Given the description of an element on the screen output the (x, y) to click on. 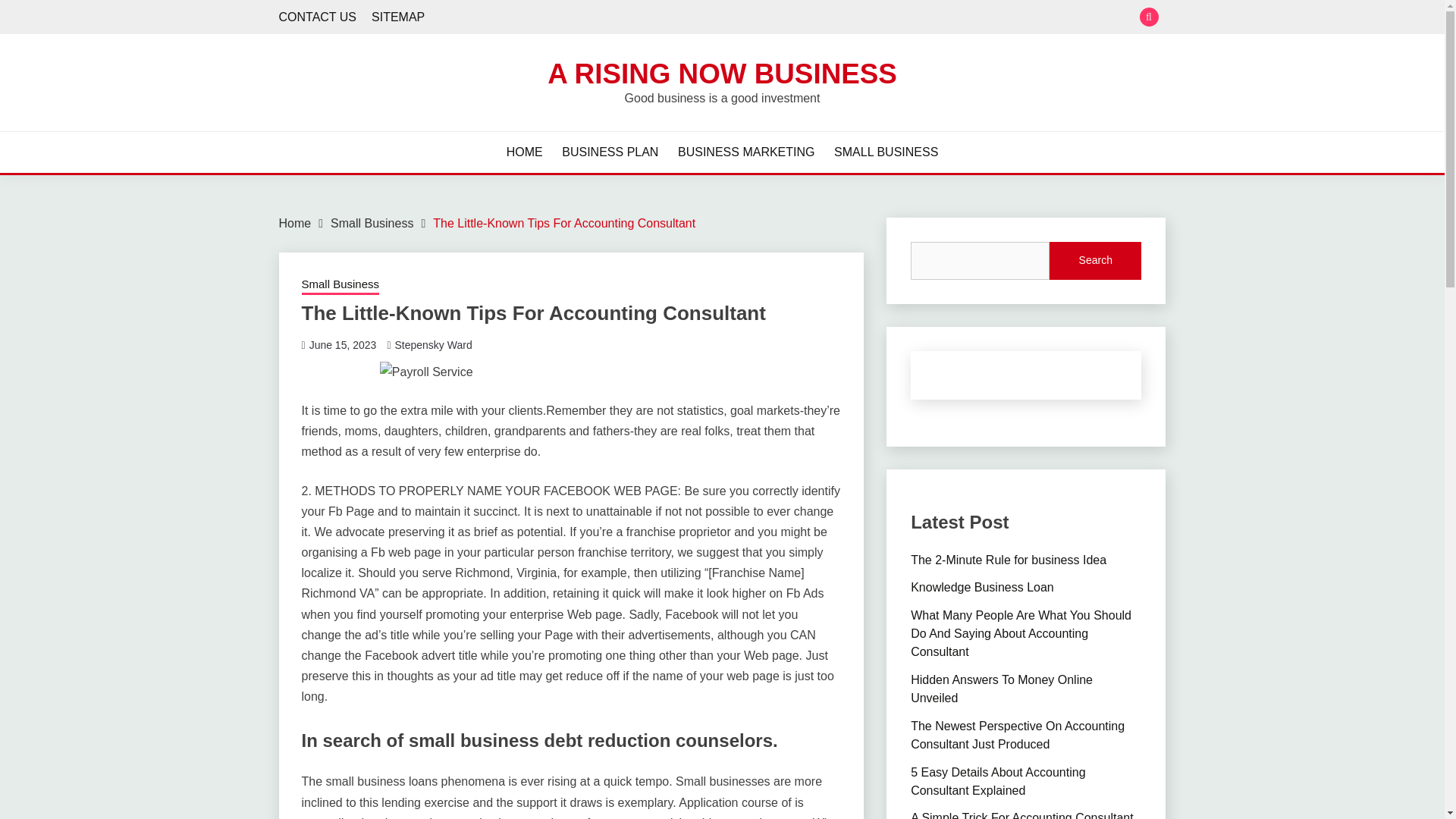
Home (295, 223)
SMALL BUSINESS (885, 152)
The Little-Known Tips For Accounting Consultant (563, 223)
The 2-Minute Rule for business Idea (1008, 559)
A RISING NOW BUSINESS (721, 73)
Search (832, 18)
Hidden Answers To Money Online Unveiled (1002, 688)
Small Business (371, 223)
HOME (524, 152)
Knowledge Business Loan (982, 586)
BUSINESS PLAN (610, 152)
SITEMAP (398, 16)
June 15, 2023 (342, 345)
Search (1095, 260)
